Given the description of an element on the screen output the (x, y) to click on. 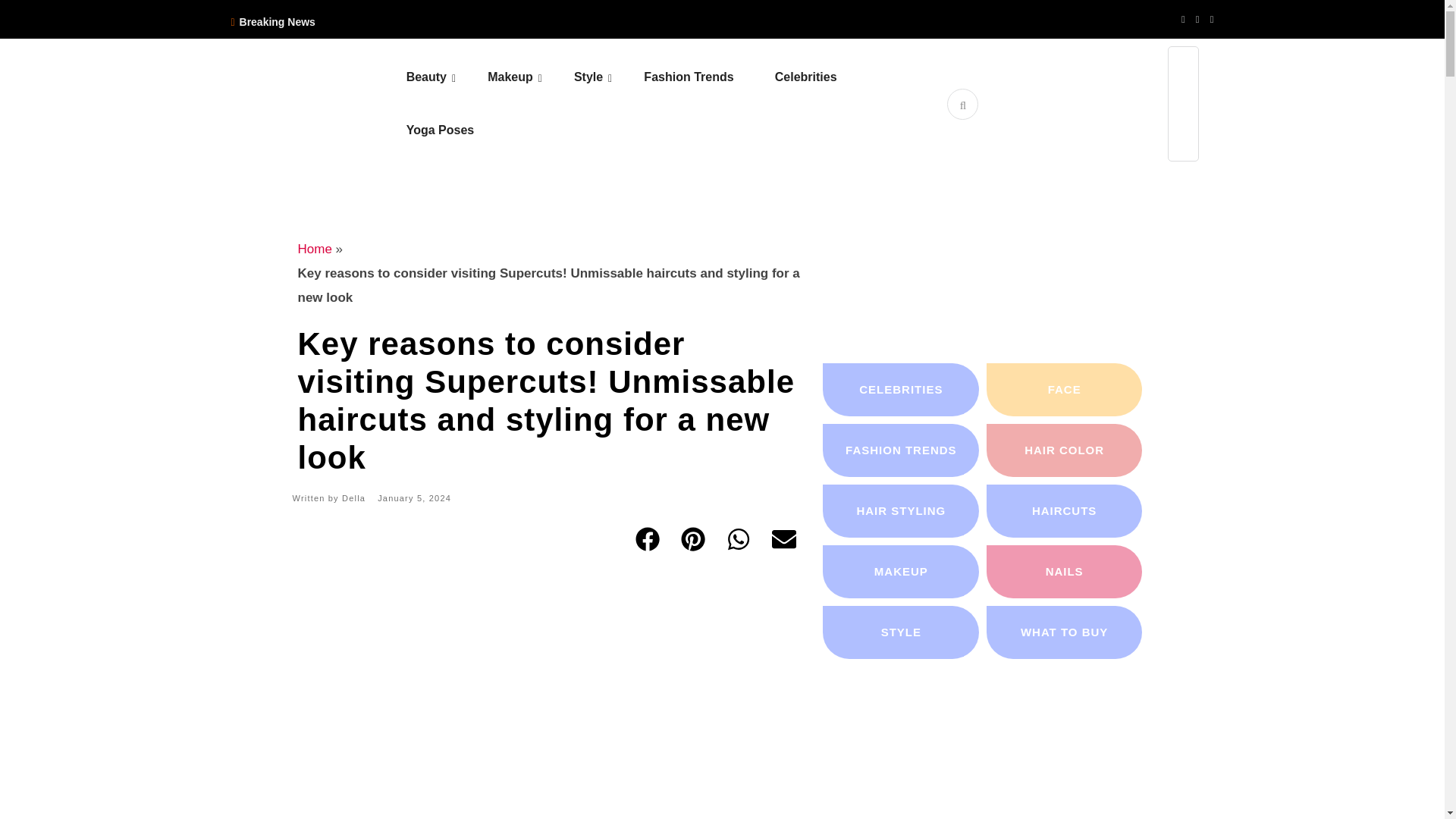
Fashion Trends (707, 77)
Skin (500, 119)
Style (606, 77)
Piercing (667, 119)
Eyes (582, 119)
Makeup (528, 77)
Beauty (445, 77)
